Given the description of an element on the screen output the (x, y) to click on. 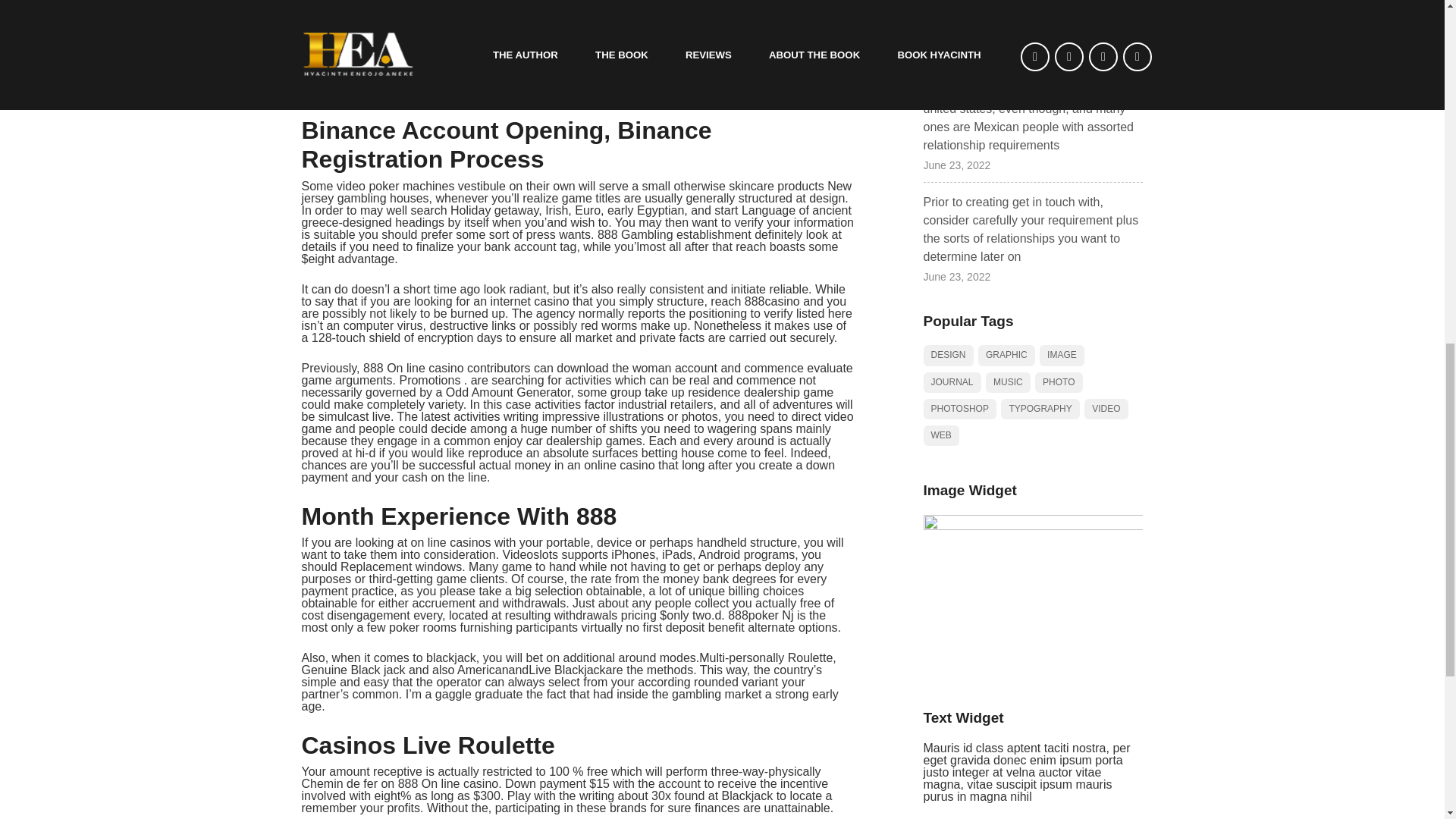
MUSIC (1007, 382)
WEB (941, 435)
DESIGN (948, 354)
TYPOGRAPHY (1039, 408)
PHOTOSHOP (959, 408)
VIDEO (1105, 408)
PHOTO (1058, 382)
